Given the description of an element on the screen output the (x, y) to click on. 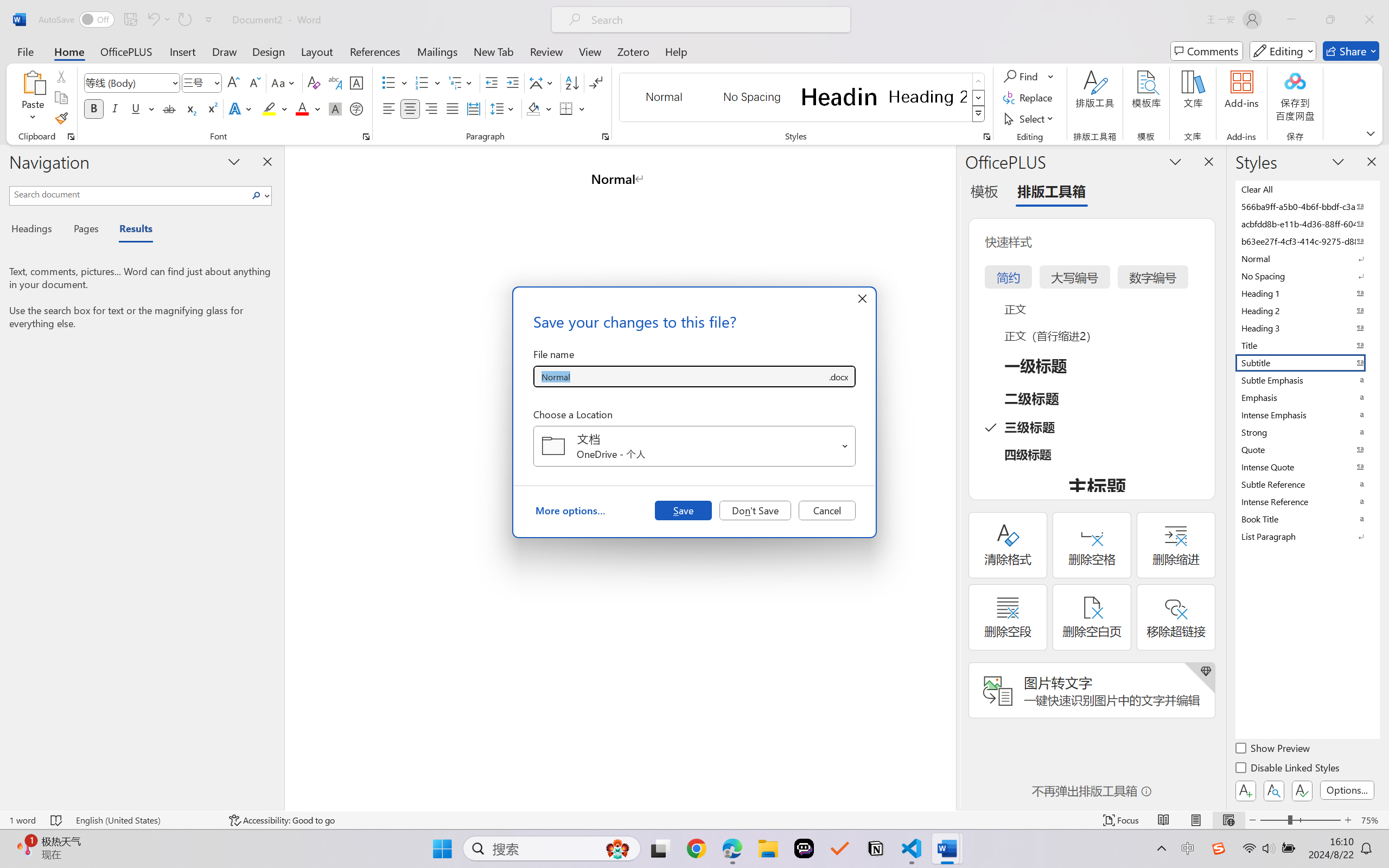
Quote (1306, 449)
Align Left (388, 108)
Class: NetUIImage (978, 114)
Word Count 1 word (21, 819)
Spelling and Grammar Check No Errors (56, 819)
Zotero (632, 51)
Subscript (190, 108)
Minimize (1291, 19)
Align Right (431, 108)
Zoom Out (1273, 819)
Find (1029, 75)
